Given the description of an element on the screen output the (x, y) to click on. 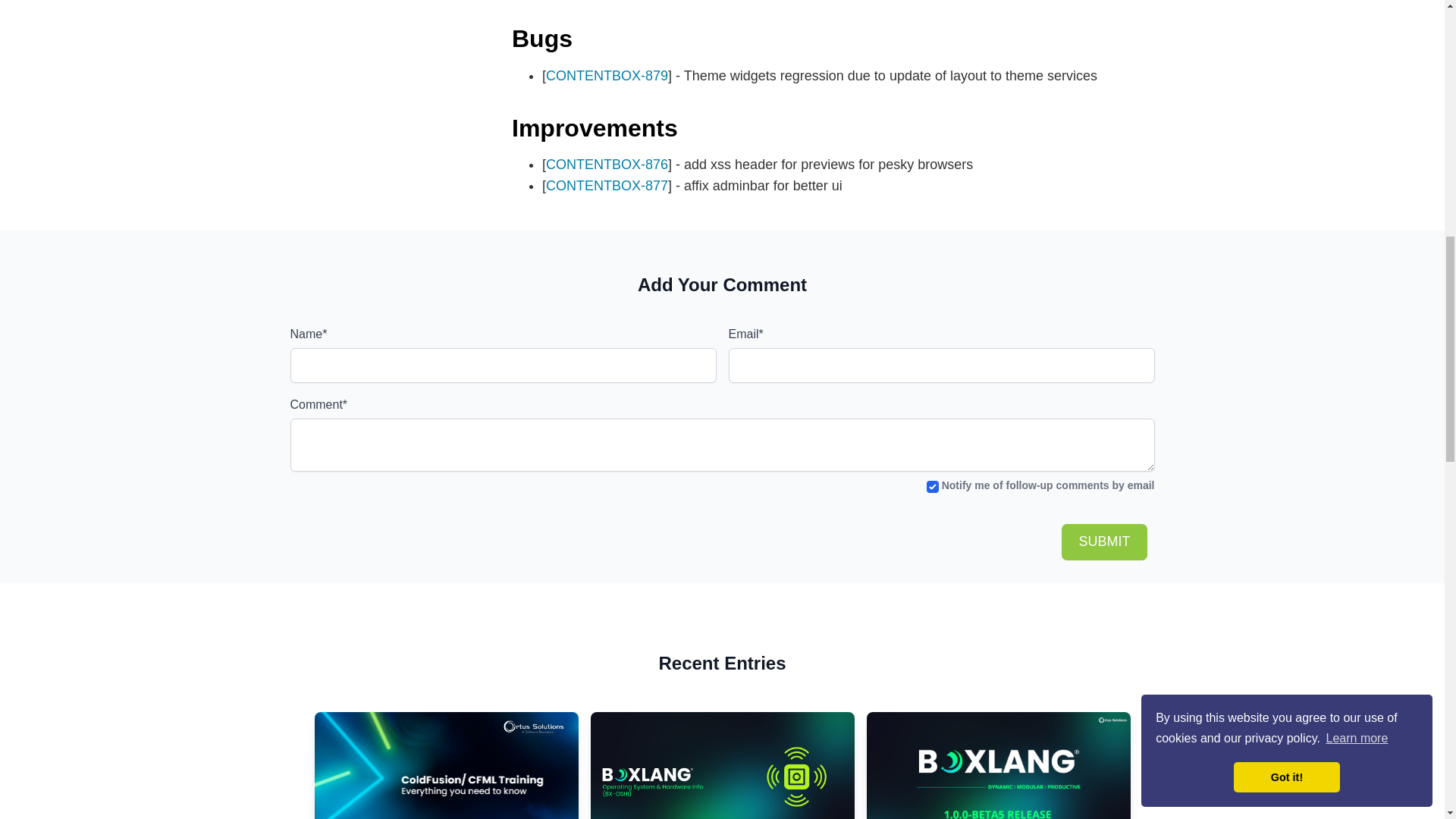
true (932, 486)
Submit (1104, 542)
